Given the description of an element on the screen output the (x, y) to click on. 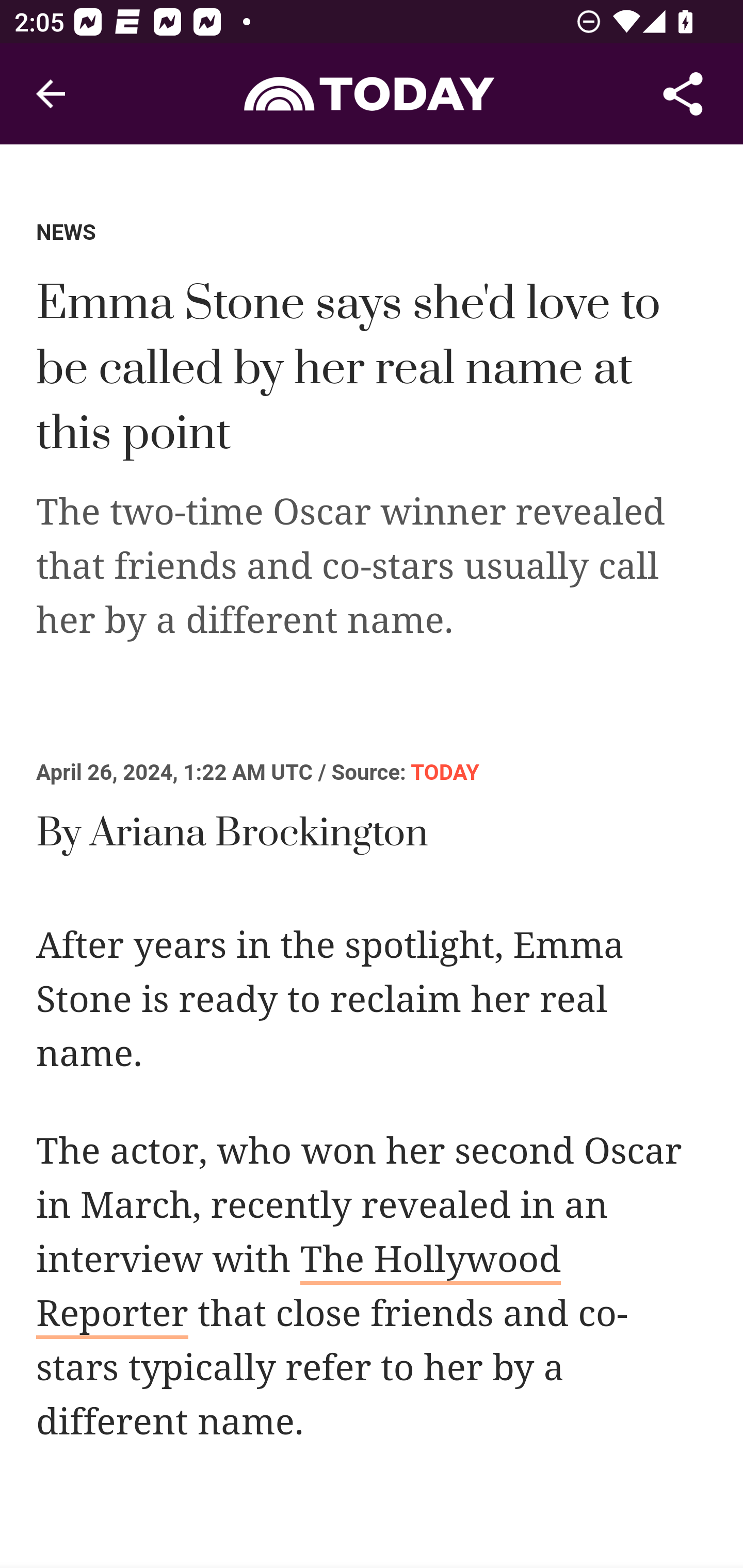
Navigate up (50, 93)
Share Article, button (683, 94)
Header, Today (371, 93)
